Given the description of an element on the screen output the (x, y) to click on. 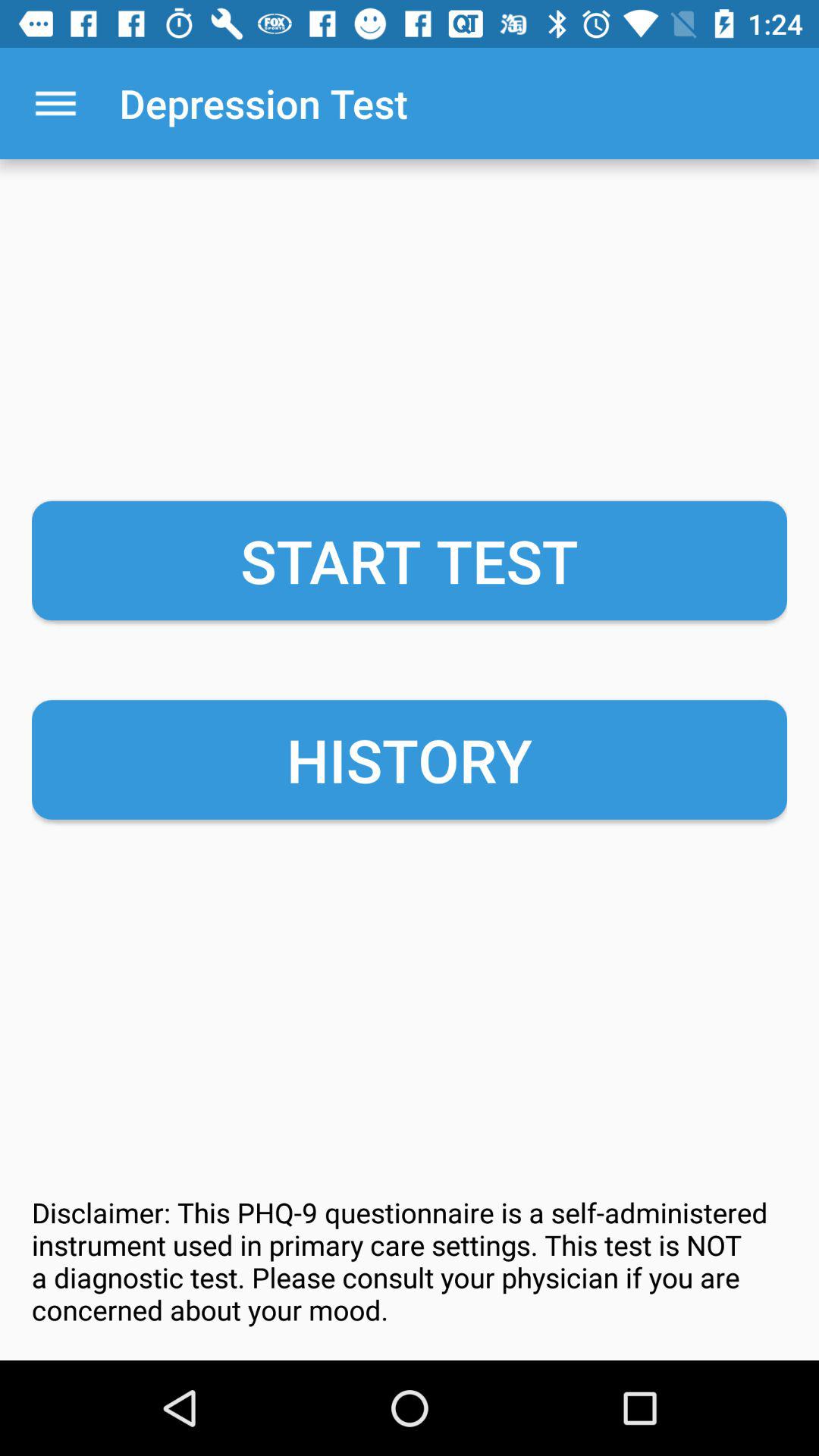
open the start test item (409, 560)
